Given the description of an element on the screen output the (x, y) to click on. 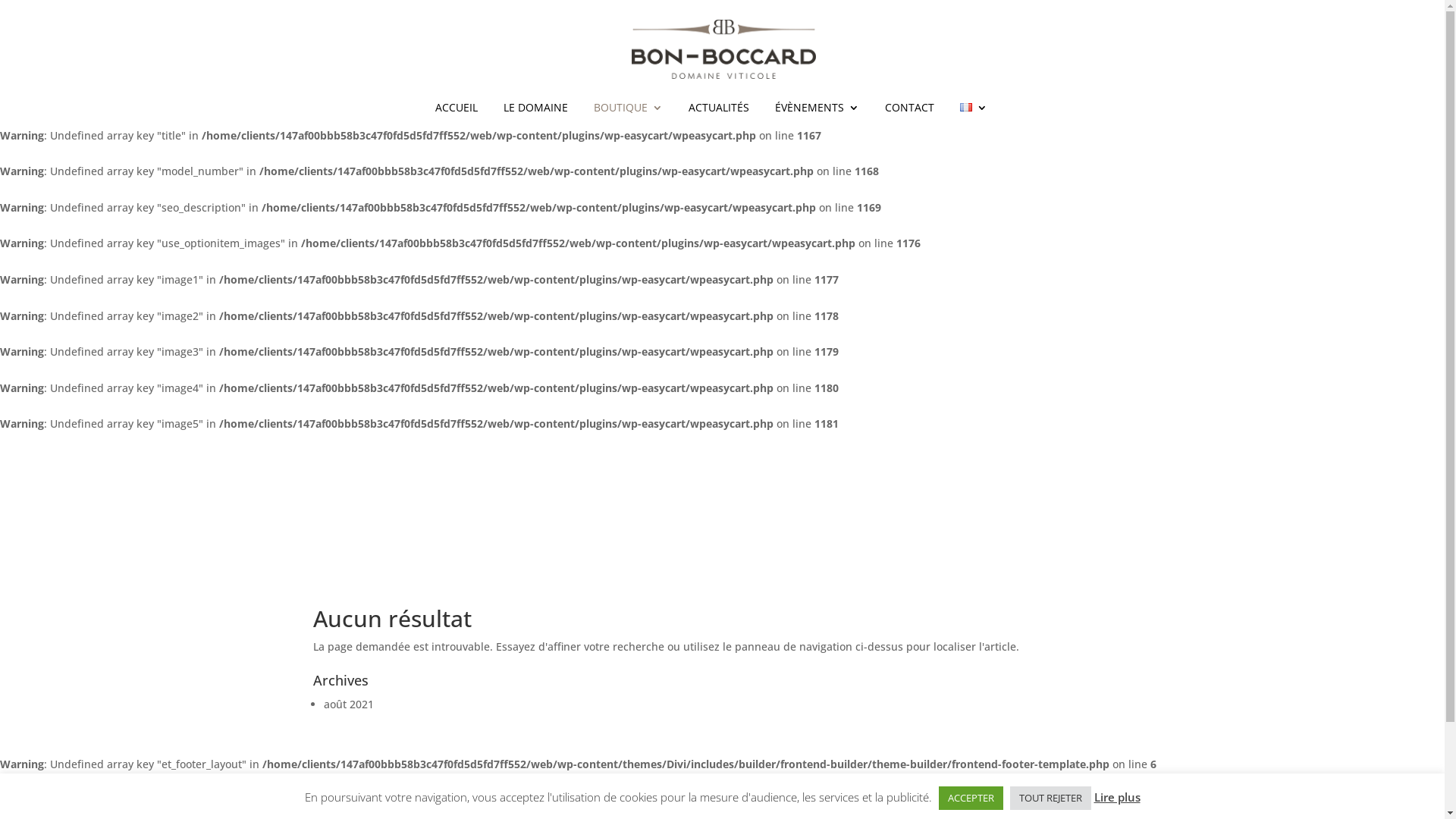
ACCUEIL Element type: text (456, 116)
LE DOMAINE Element type: text (535, 116)
TOUT REJETER Element type: text (1050, 797)
Lire plus Element type: text (1116, 796)
BOUTIQUE Element type: text (627, 116)
ACCEPTER Element type: text (970, 797)
CONTACT Element type: text (908, 116)
